Given the description of an element on the screen output the (x, y) to click on. 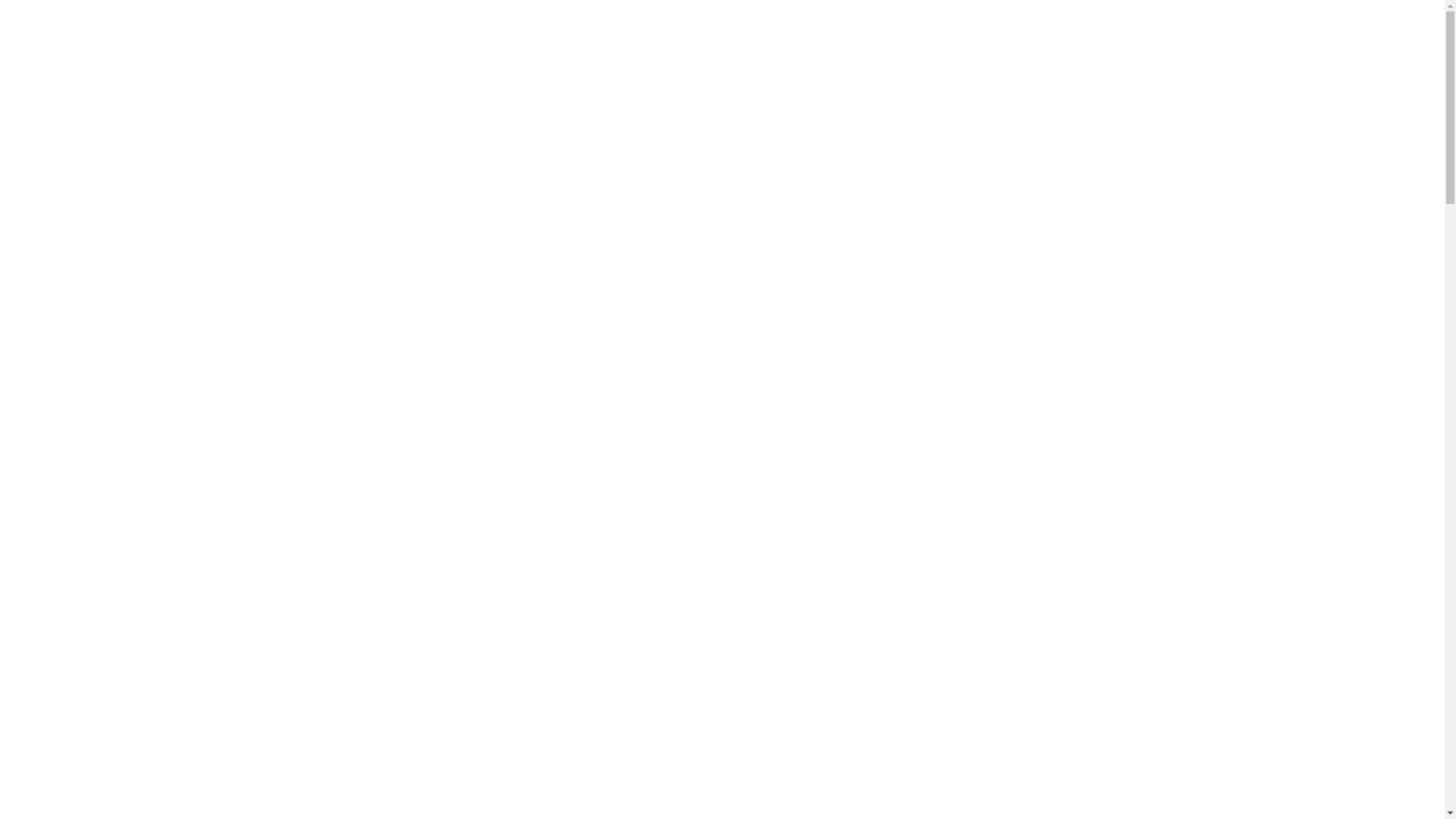
Go Element type: text (156, 193)
